Given the description of an element on the screen output the (x, y) to click on. 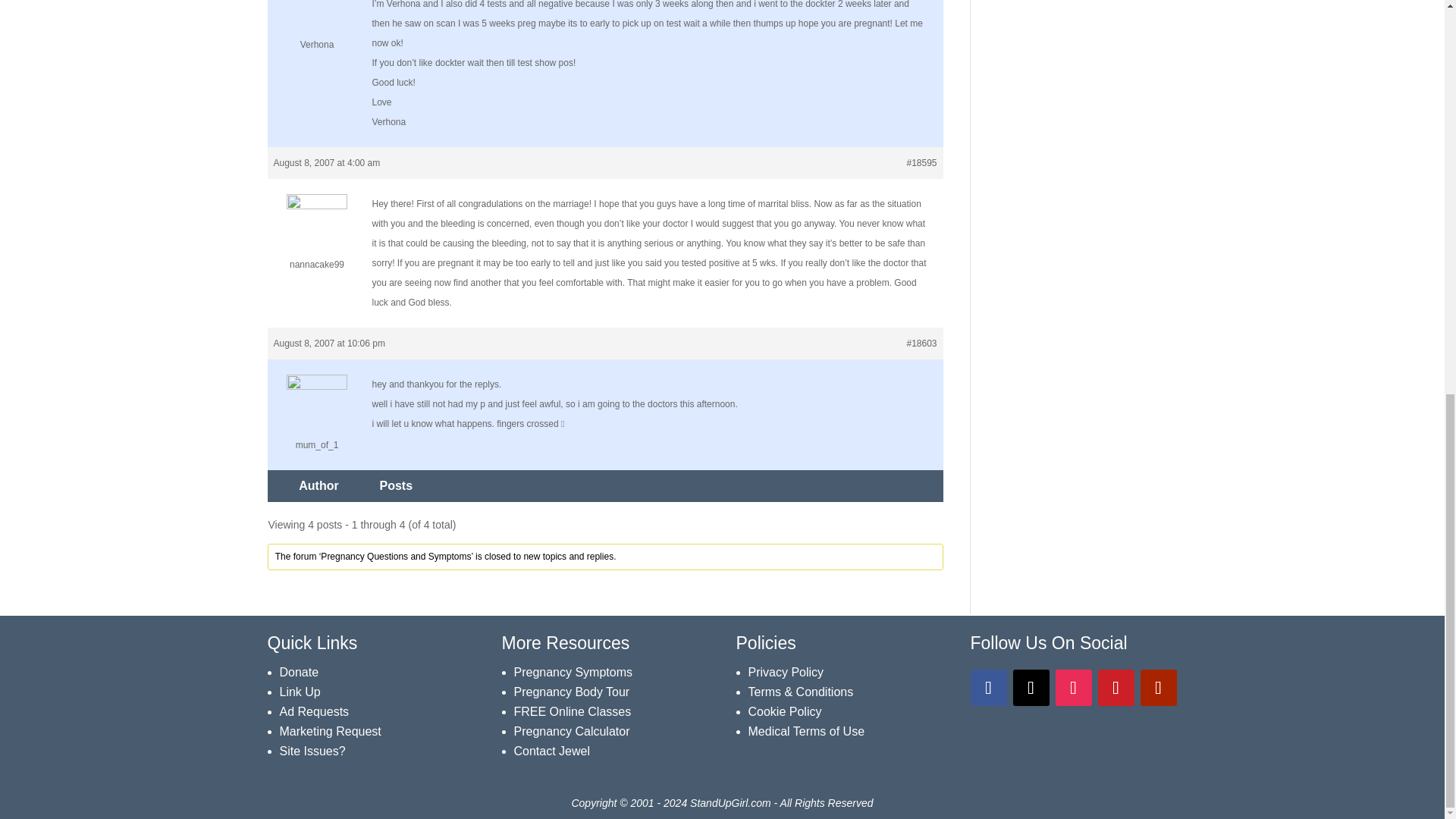
BrightCourse Online Classes (572, 711)
Privacy Policy (786, 671)
donate to Standupgirl.com foundation (298, 671)
Site issue contact us (312, 750)
Follow on Facebook (989, 687)
Follow on Pinterest (1115, 687)
Follow on Instagram (1073, 687)
Ad Requests (314, 711)
Follow on Twitter (1031, 687)
Follow on Youtube (1158, 687)
